Given the description of an element on the screen output the (x, y) to click on. 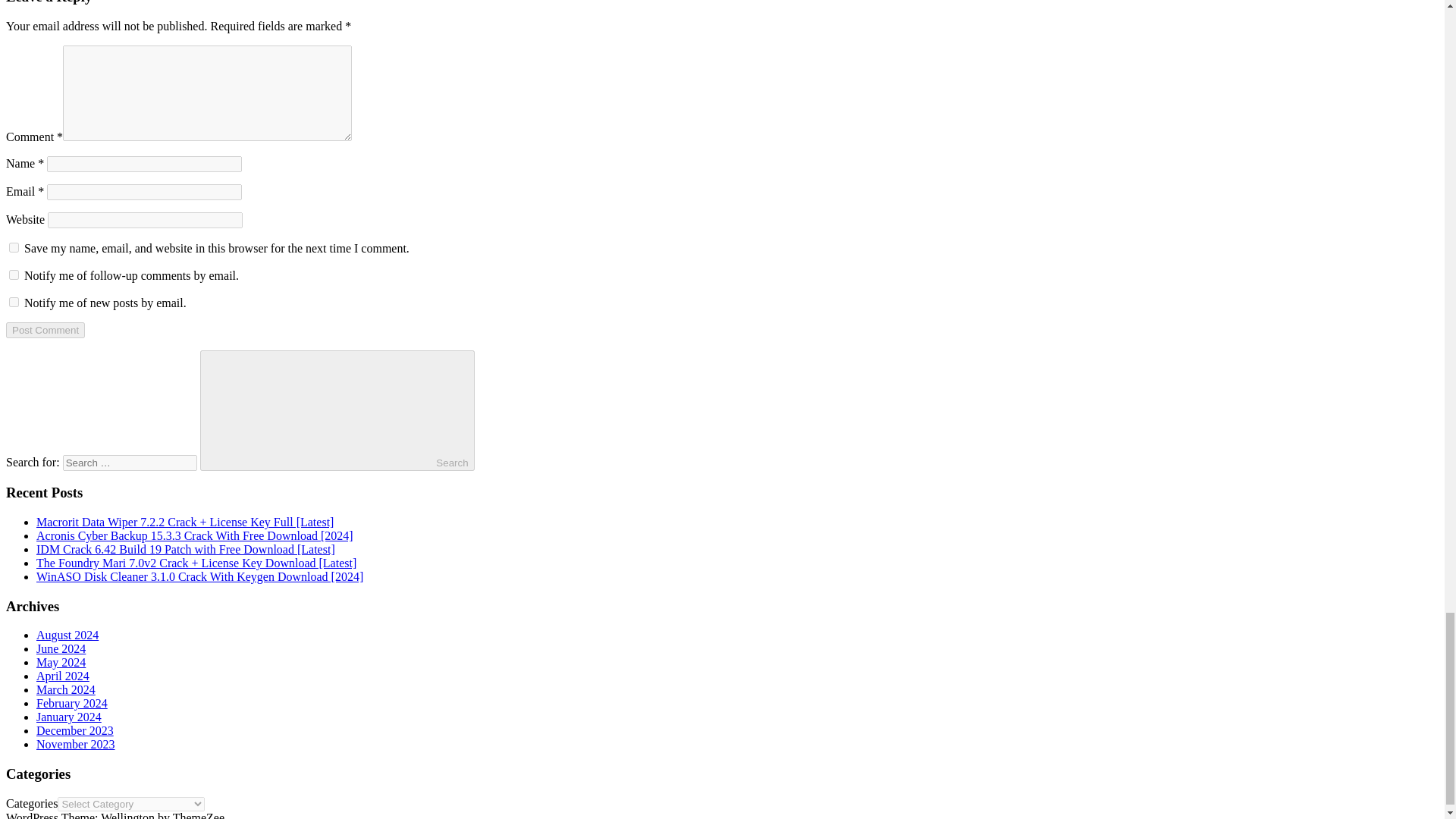
Post Comment (44, 330)
subscribe (13, 275)
yes (13, 247)
subscribe (13, 302)
